Given the description of an element on the screen output the (x, y) to click on. 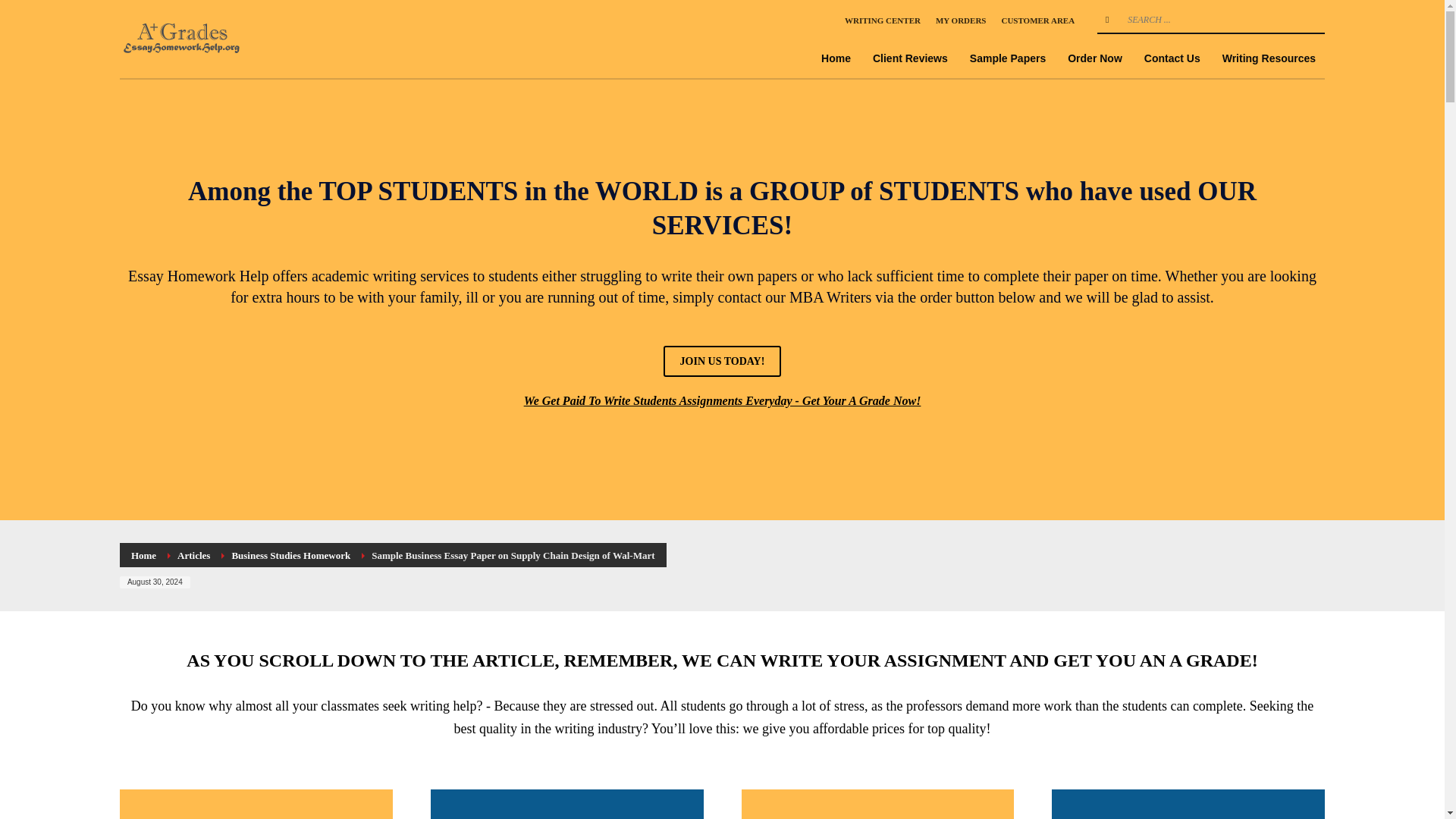
Order Now (1094, 57)
Contact Us (1172, 57)
Business Studies Homework (290, 555)
go (1107, 19)
Writing Resources (1268, 57)
Home (143, 555)
CUSTOMER AREA (1037, 20)
Articles (193, 555)
Client Reviews (909, 57)
Home (836, 57)
